Given the description of an element on the screen output the (x, y) to click on. 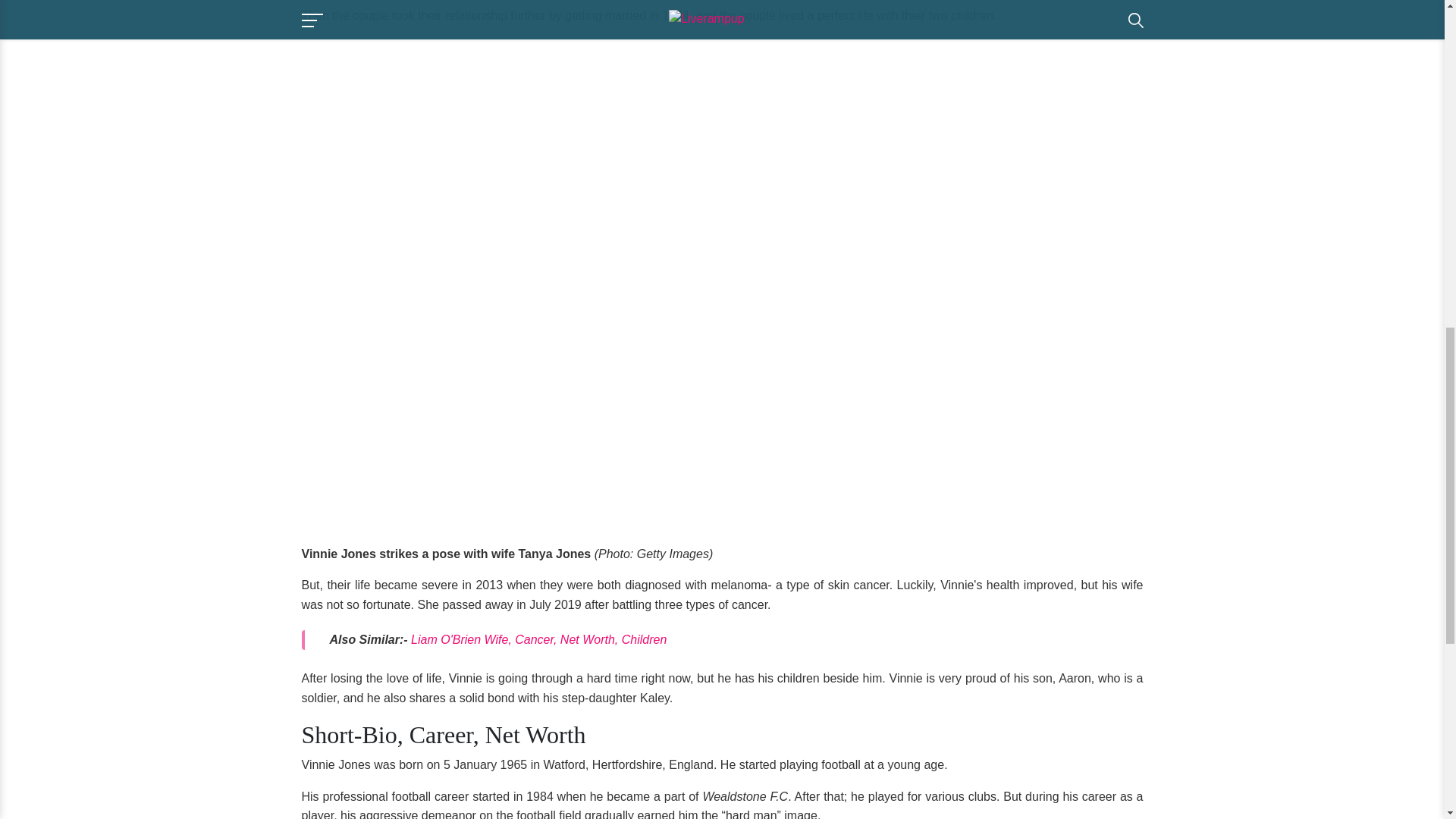
Liam O'Brien Wife, Cancer, Net Worth, Children (538, 639)
